Given the description of an element on the screen output the (x, y) to click on. 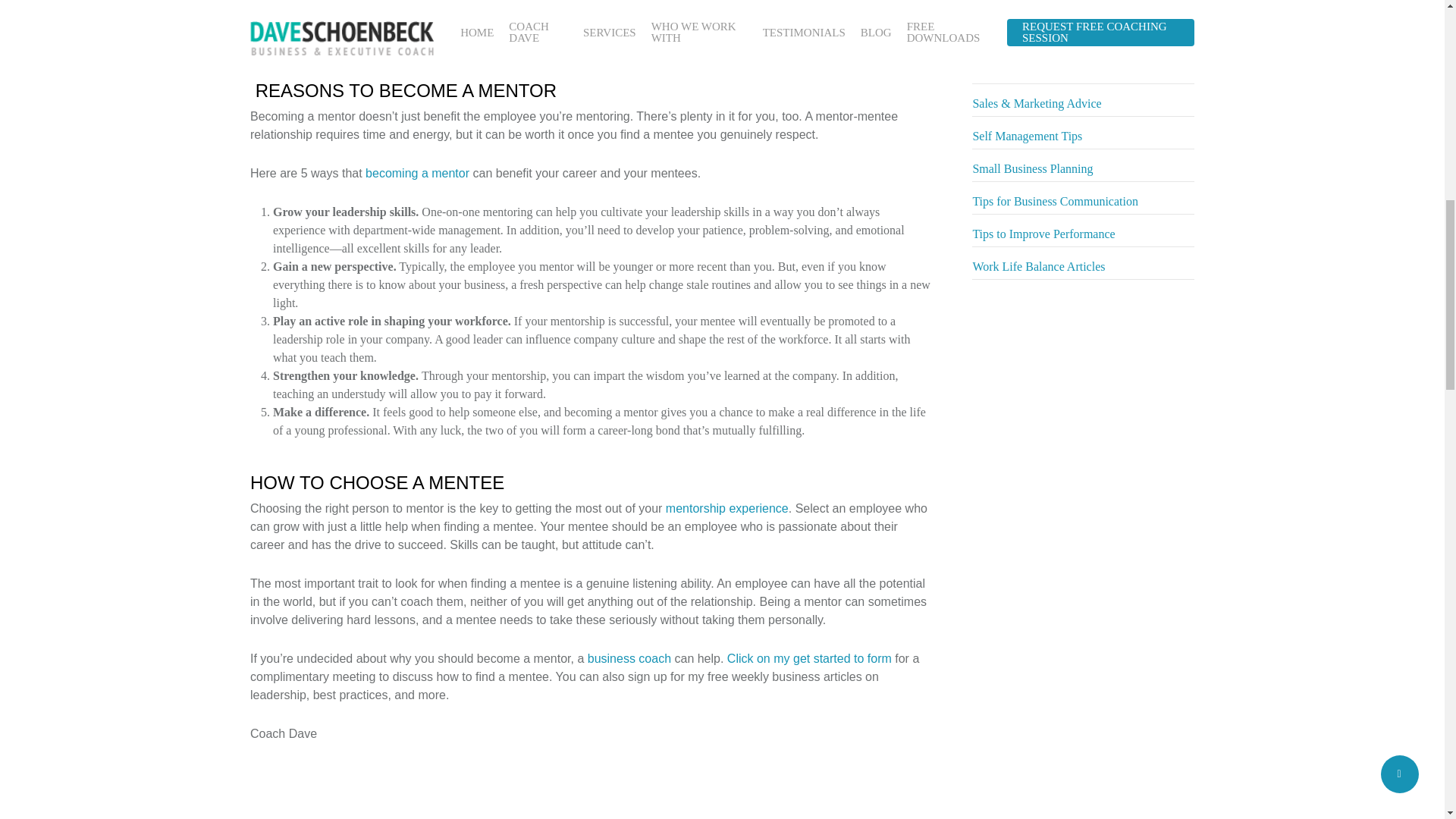
business coach (629, 658)
Click on my get started to form (808, 658)
becoming a mentor (416, 173)
mentorship experience (727, 508)
